Given the description of an element on the screen output the (x, y) to click on. 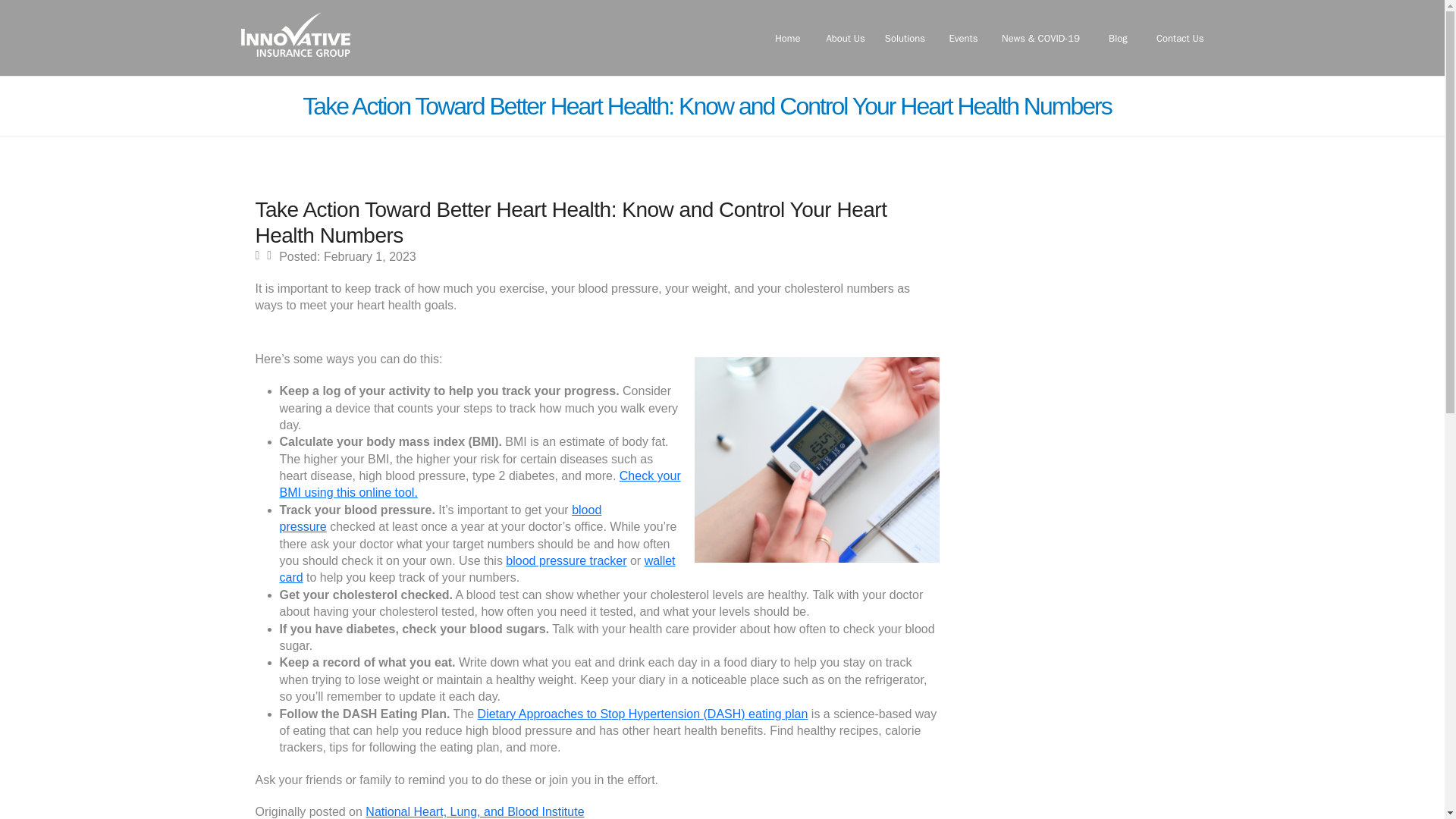
blood pressure tracker (565, 560)
Contact Us (1180, 38)
blood pressure (440, 518)
Check your BMI using this online tool. (479, 483)
